Given the description of an element on the screen output the (x, y) to click on. 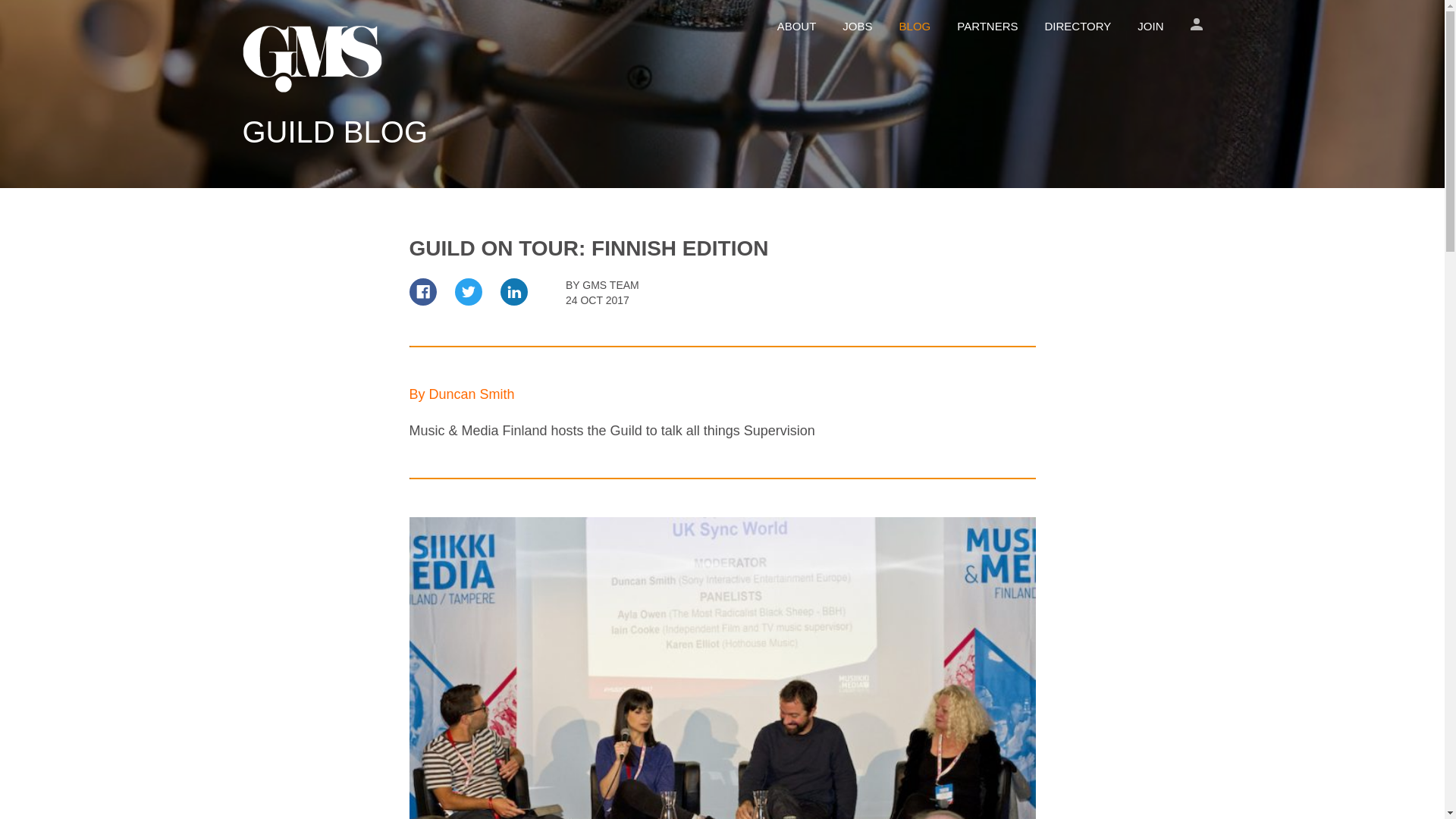
ABOUT (796, 26)
JOIN (1150, 26)
DIRECTORY (1078, 26)
BLOG (915, 26)
PARTNERS (986, 26)
LOGIN (1196, 24)
JOBS (857, 26)
